Given the description of an element on the screen output the (x, y) to click on. 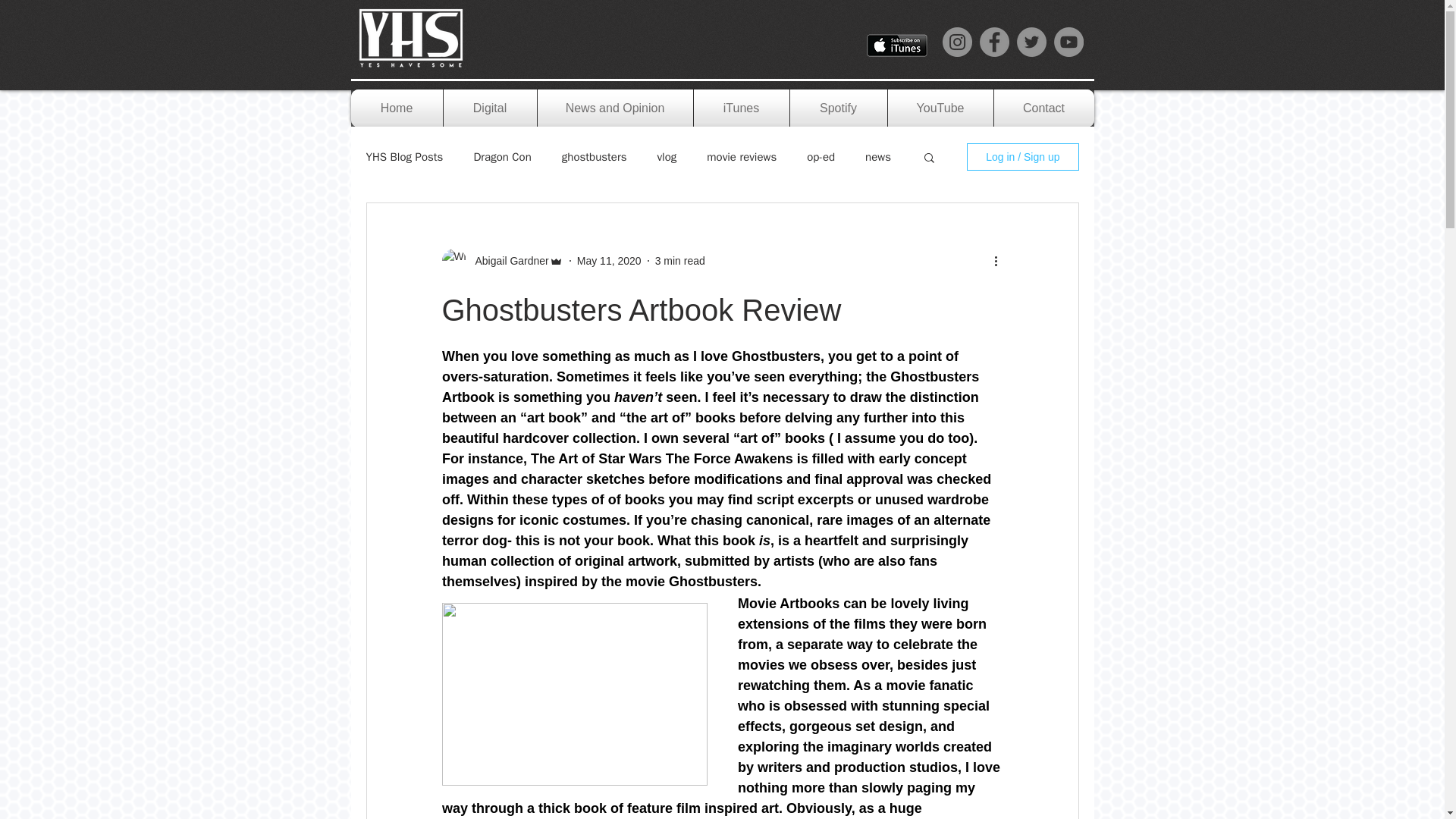
movie reviews (741, 156)
Abigail Gardner (506, 261)
vlog (666, 156)
Home (396, 108)
News and Opinion (615, 108)
May 11, 2020 (609, 260)
news (877, 156)
Dragon Con (502, 156)
3 min read (679, 260)
Spotify (838, 108)
Contact (1042, 108)
YHS Blog Posts (403, 156)
iTunes (741, 108)
op-ed (820, 156)
YouTube (939, 108)
